Given the description of an element on the screen output the (x, y) to click on. 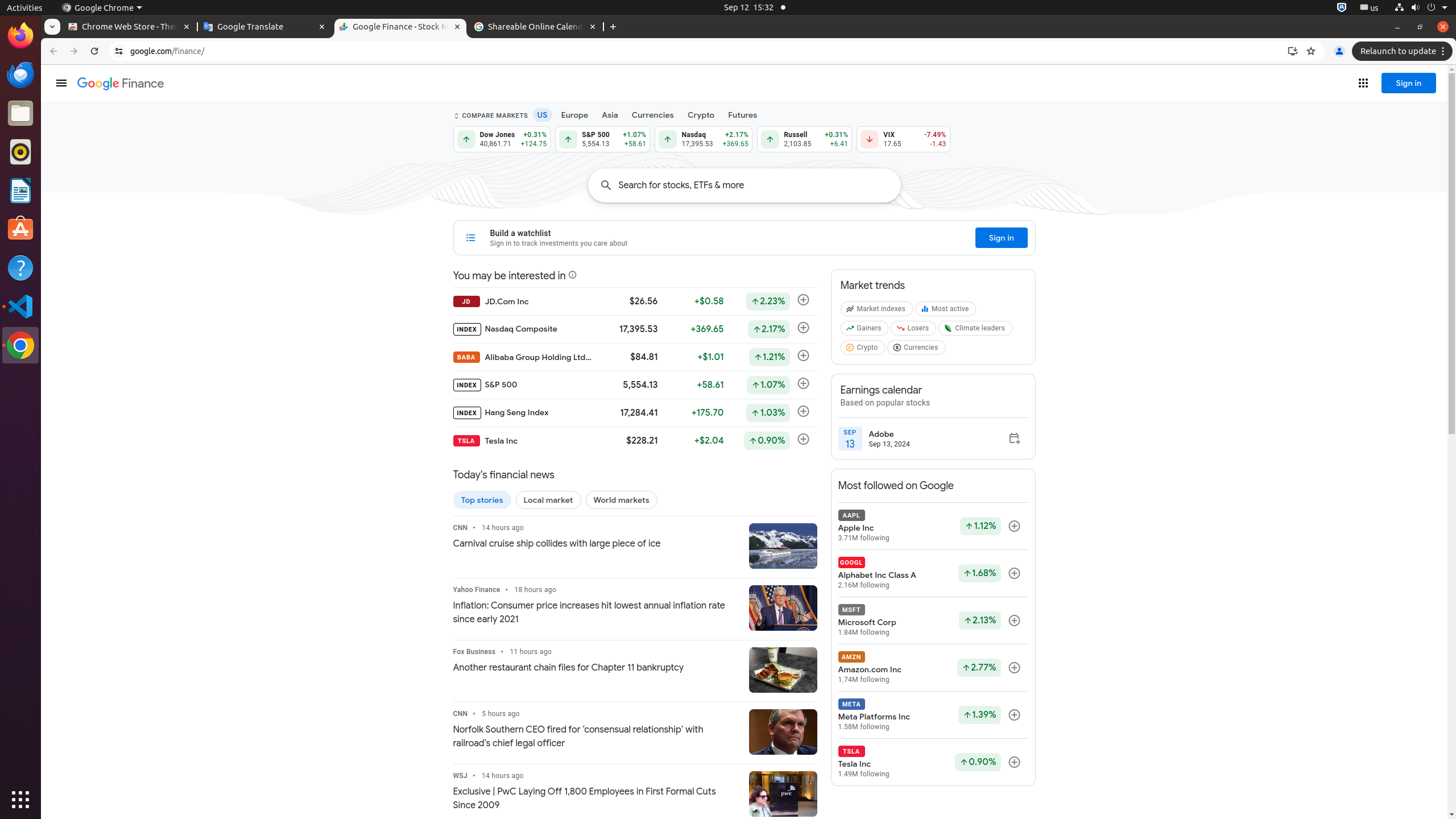
Currencies Element type: page-tab (652, 114)
Forward Element type: push-button (73, 50)
Visual Studio Code Element type: push-button (20, 306)
Sign in Element type: push-button (1001, 237)
Add to calendar Element type: link (1014, 438)
